Given the description of an element on the screen output the (x, y) to click on. 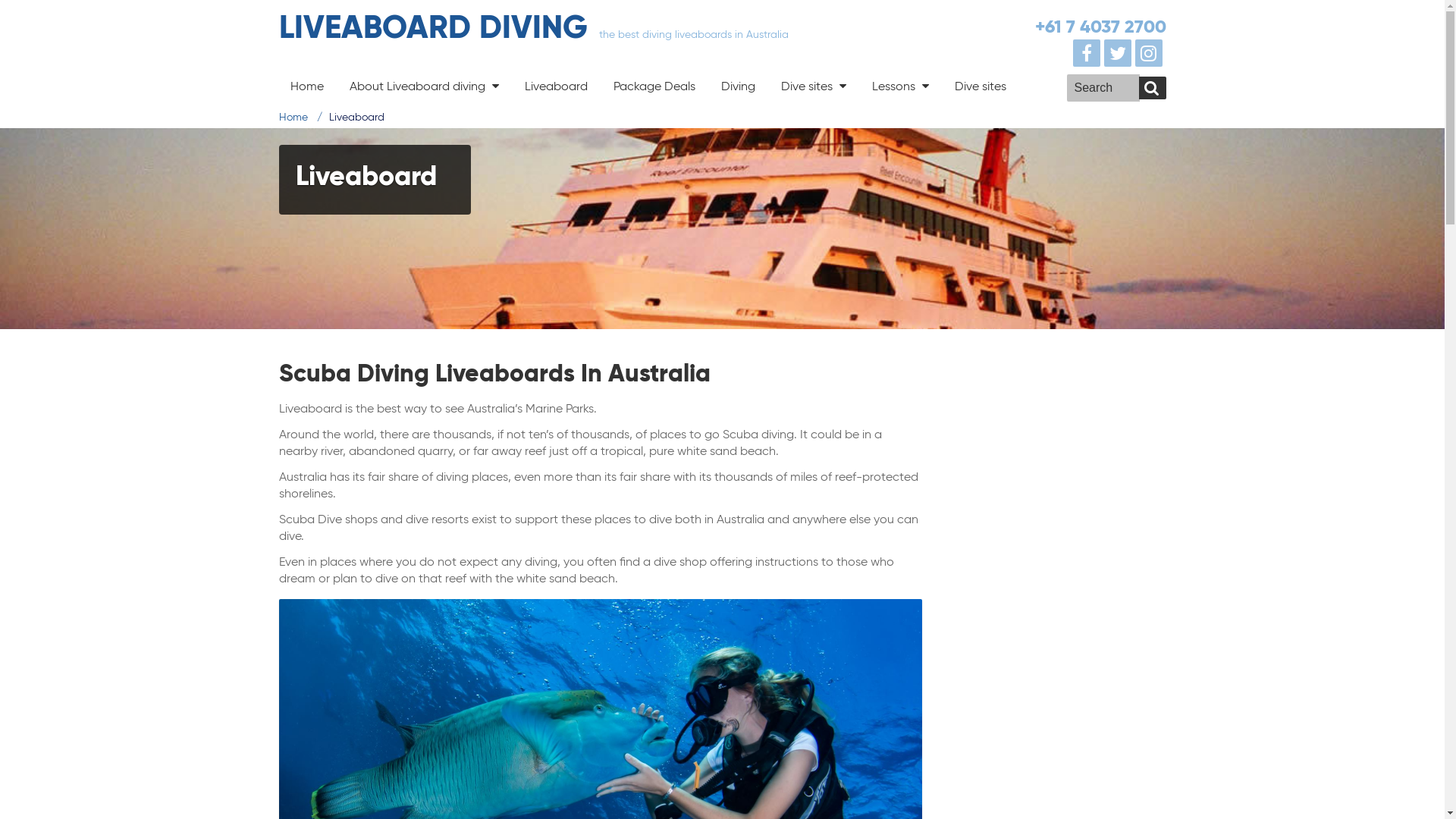
+61 7 4037 2700 Element type: text (1099, 26)
Search Element type: text (1152, 87)
Home Element type: text (293, 116)
Dive sites Element type: text (812, 85)
0 followers on Twitter Element type: hover (1119, 53)
Lessons Element type: text (899, 85)
0 people like us on Facebook Element type: hover (1088, 53)
Liveaboard Element type: text (555, 86)
About Liveaboard diving Element type: text (424, 85)
0 followers on Instagram Element type: hover (1150, 53)
Dive sites Element type: text (980, 86)
LIVEABOARD DIVING the best diving liveaboards in Australia Element type: text (533, 26)
Home Element type: text (307, 86)
Package Deals Element type: text (654, 86)
Diving Element type: text (737, 86)
